Given the description of an element on the screen output the (x, y) to click on. 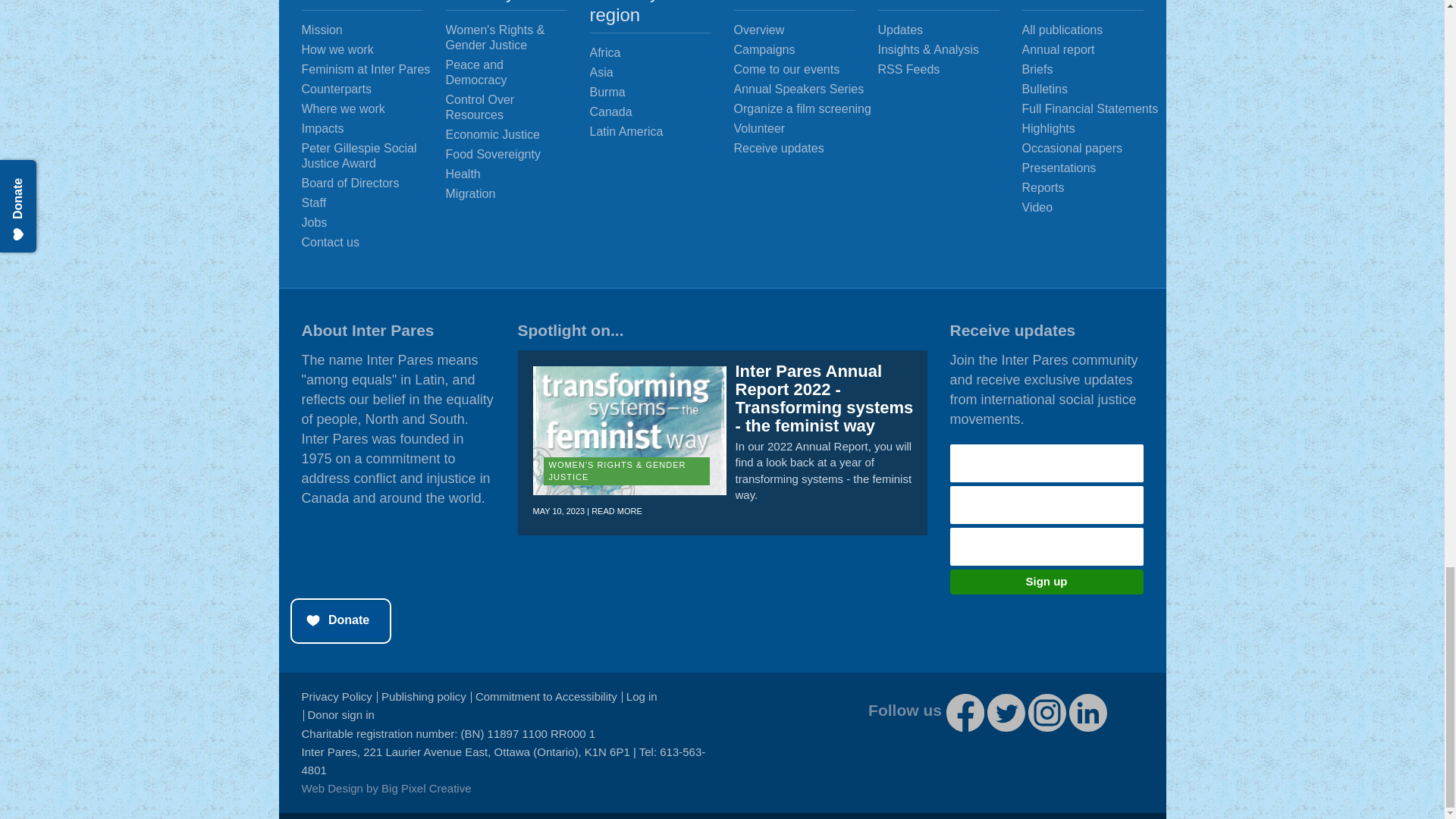
Upcoming events (806, 69)
